Given the description of an element on the screen output the (x, y) to click on. 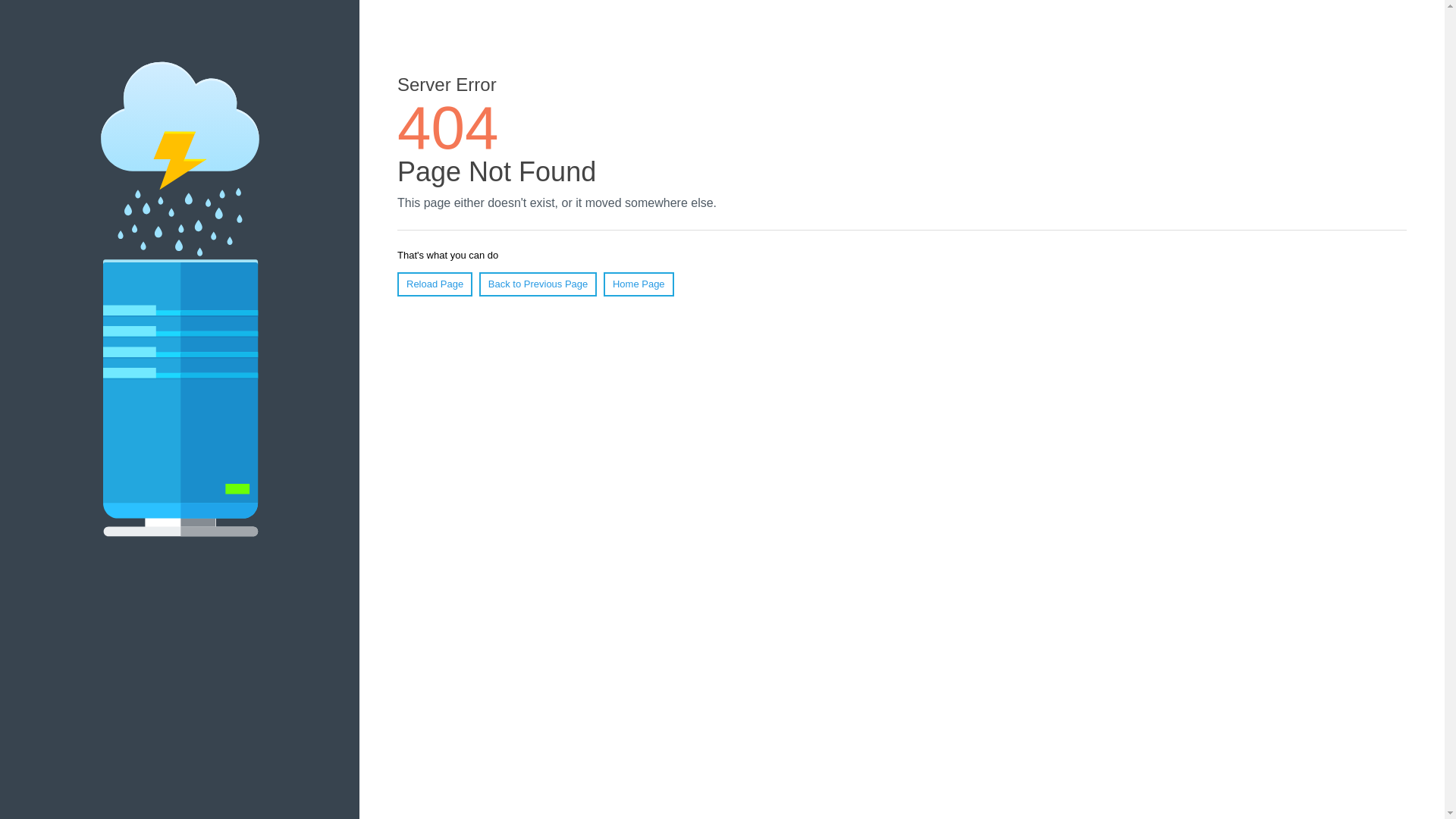
Reload Page Element type: text (434, 284)
Home Page Element type: text (638, 284)
Back to Previous Page Element type: text (538, 284)
